Given the description of an element on the screen output the (x, y) to click on. 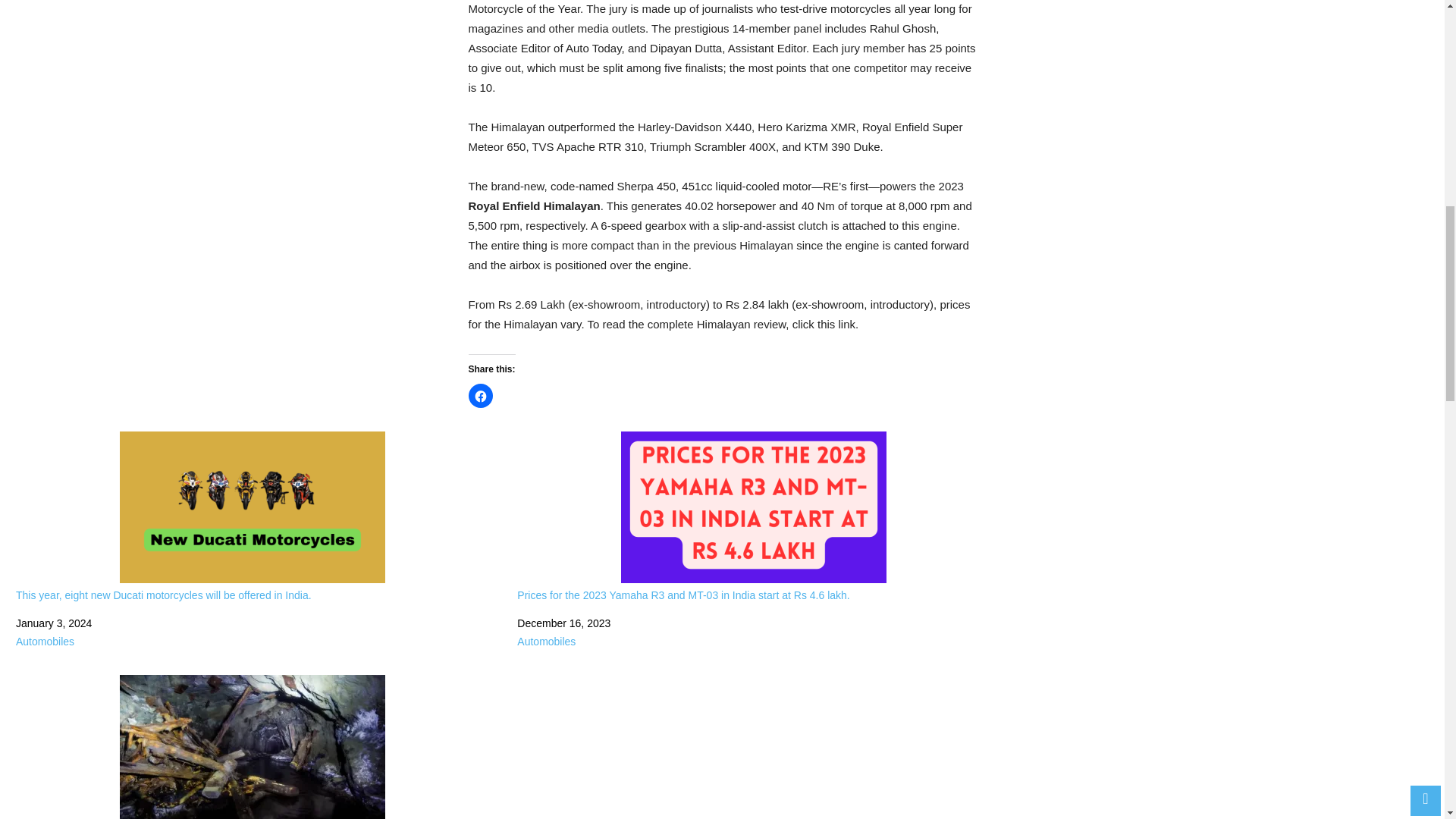
Click to share on Facebook (480, 395)
Automobiles (45, 641)
Automobiles (545, 641)
Click to share on X (507, 395)
